Given the description of an element on the screen output the (x, y) to click on. 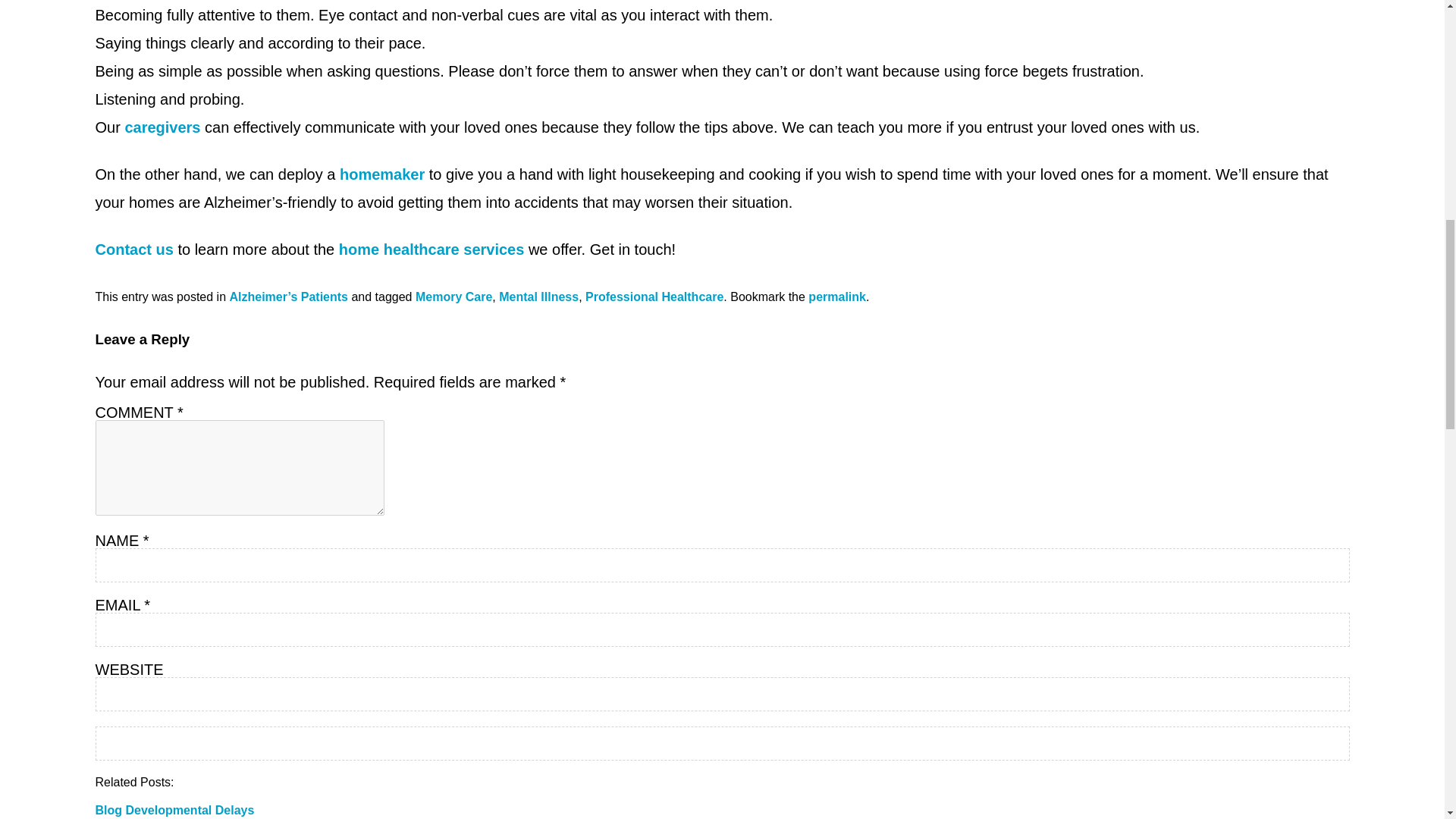
Post Comment (722, 743)
